Given the description of an element on the screen output the (x, y) to click on. 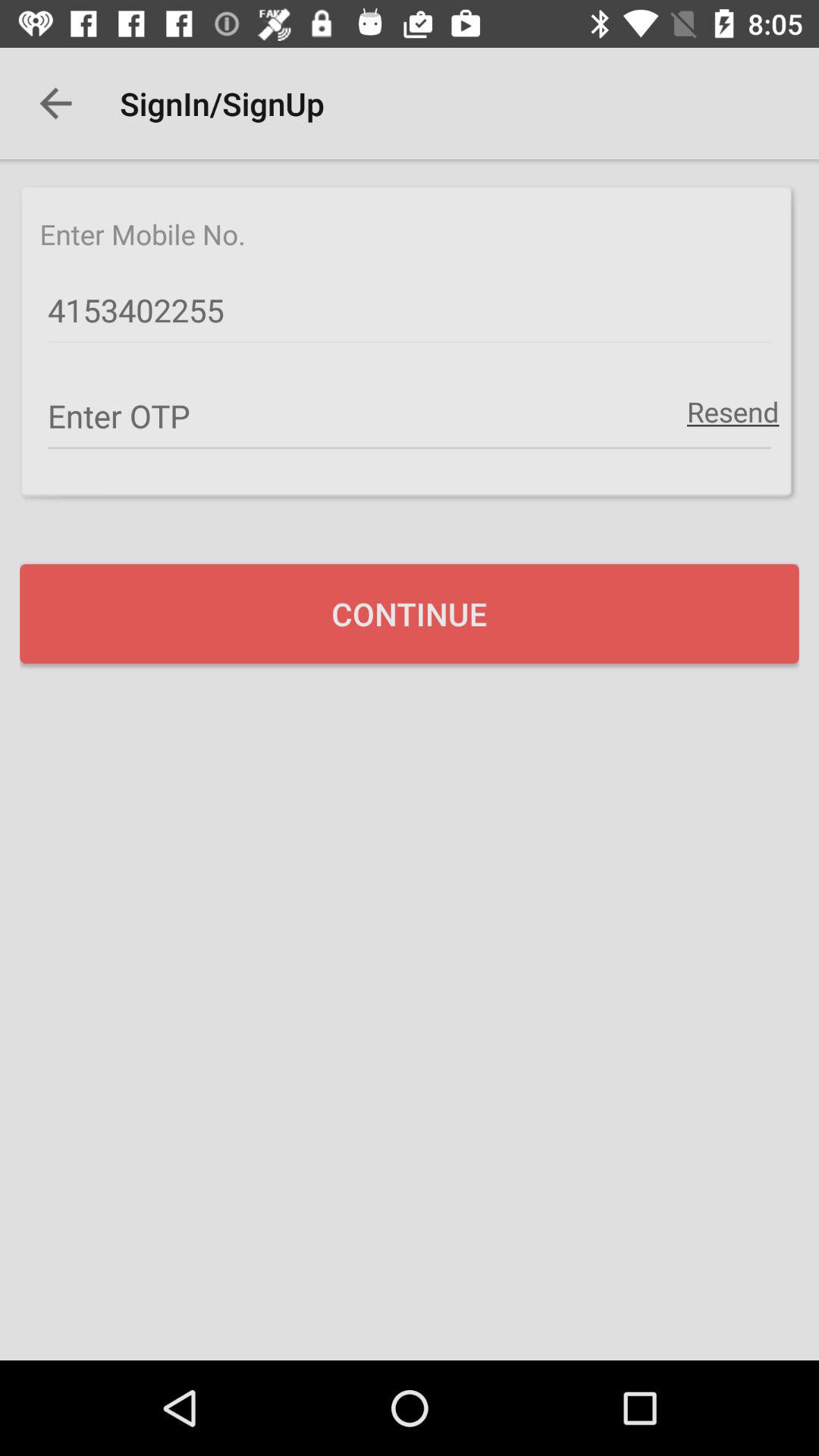
choose continue icon (409, 613)
